Given the description of an element on the screen output the (x, y) to click on. 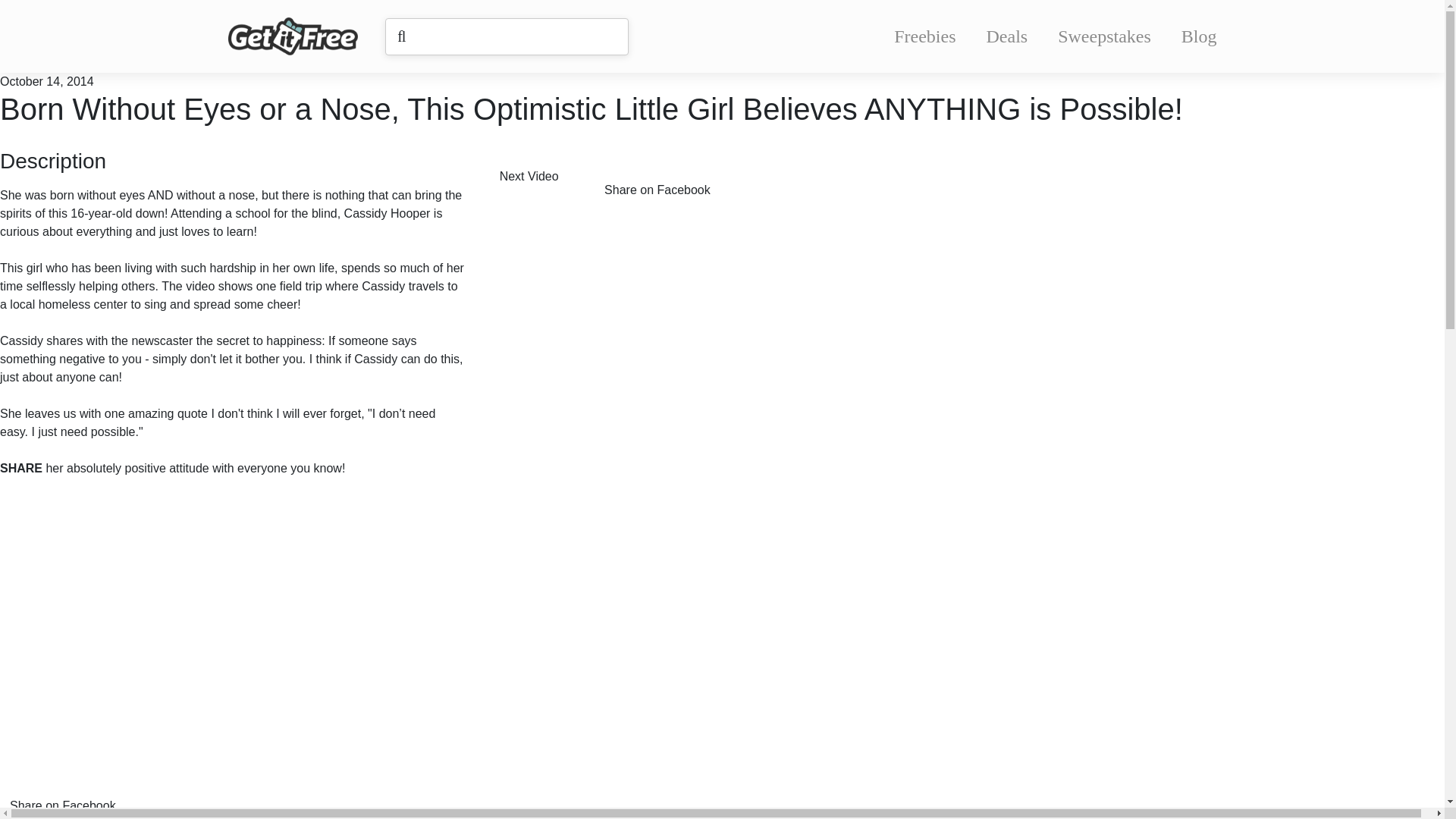
Freebies (924, 35)
Next Video (540, 178)
Sweepstakes (1104, 35)
Share on Facebook (74, 791)
Share on Facebook (668, 178)
Deals (1007, 35)
Blog (1198, 35)
